Given the description of an element on the screen output the (x, y) to click on. 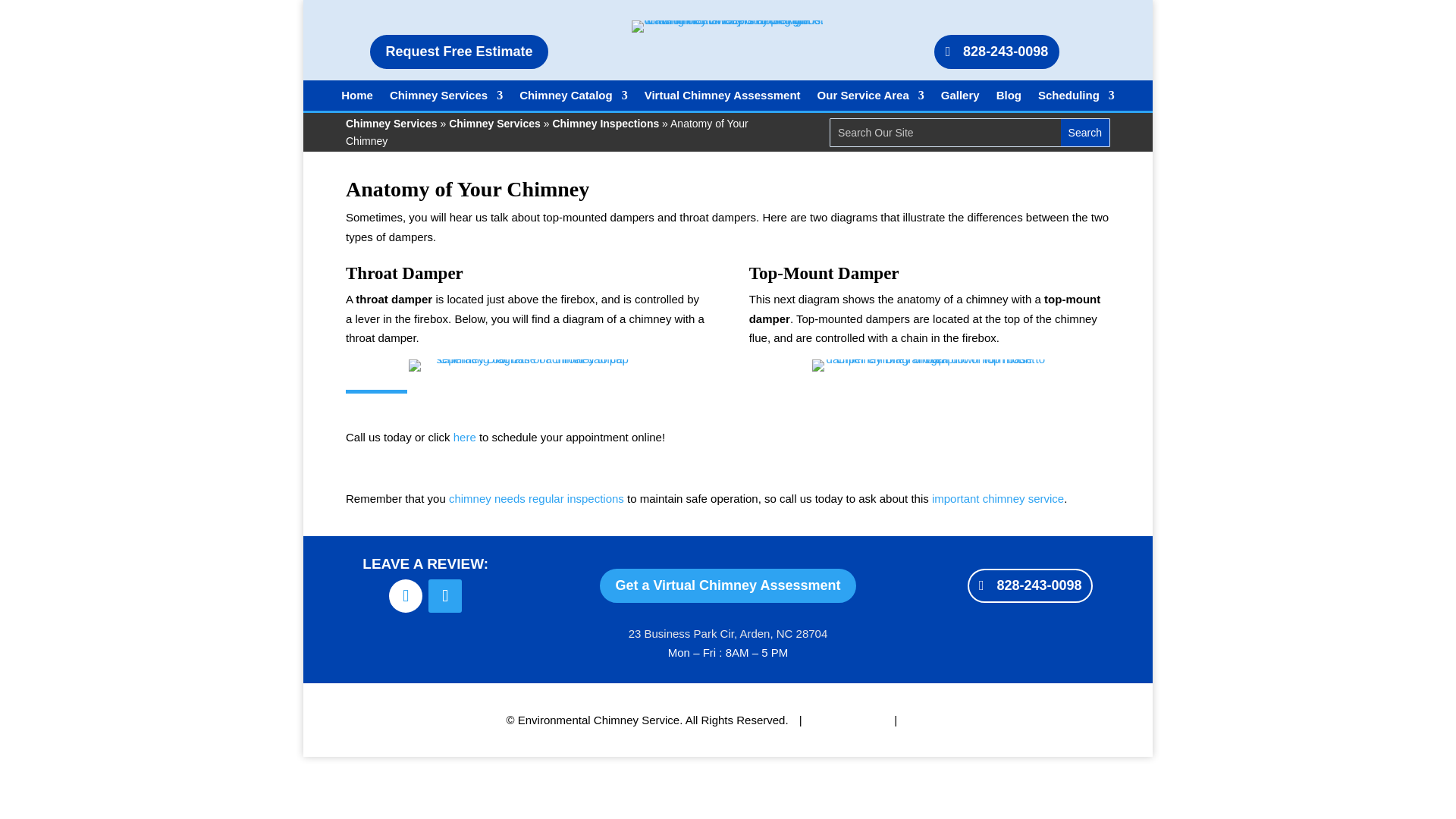
Gallery (959, 98)
here (464, 436)
Search (1085, 132)
Chimney Services (446, 98)
Our Service Area (870, 98)
Search (1085, 132)
Chimney Catalog (573, 98)
Complete Services for Your Chimney (997, 498)
Chimney Services (392, 123)
Scheduling (1076, 98)
